Given the description of an element on the screen output the (x, y) to click on. 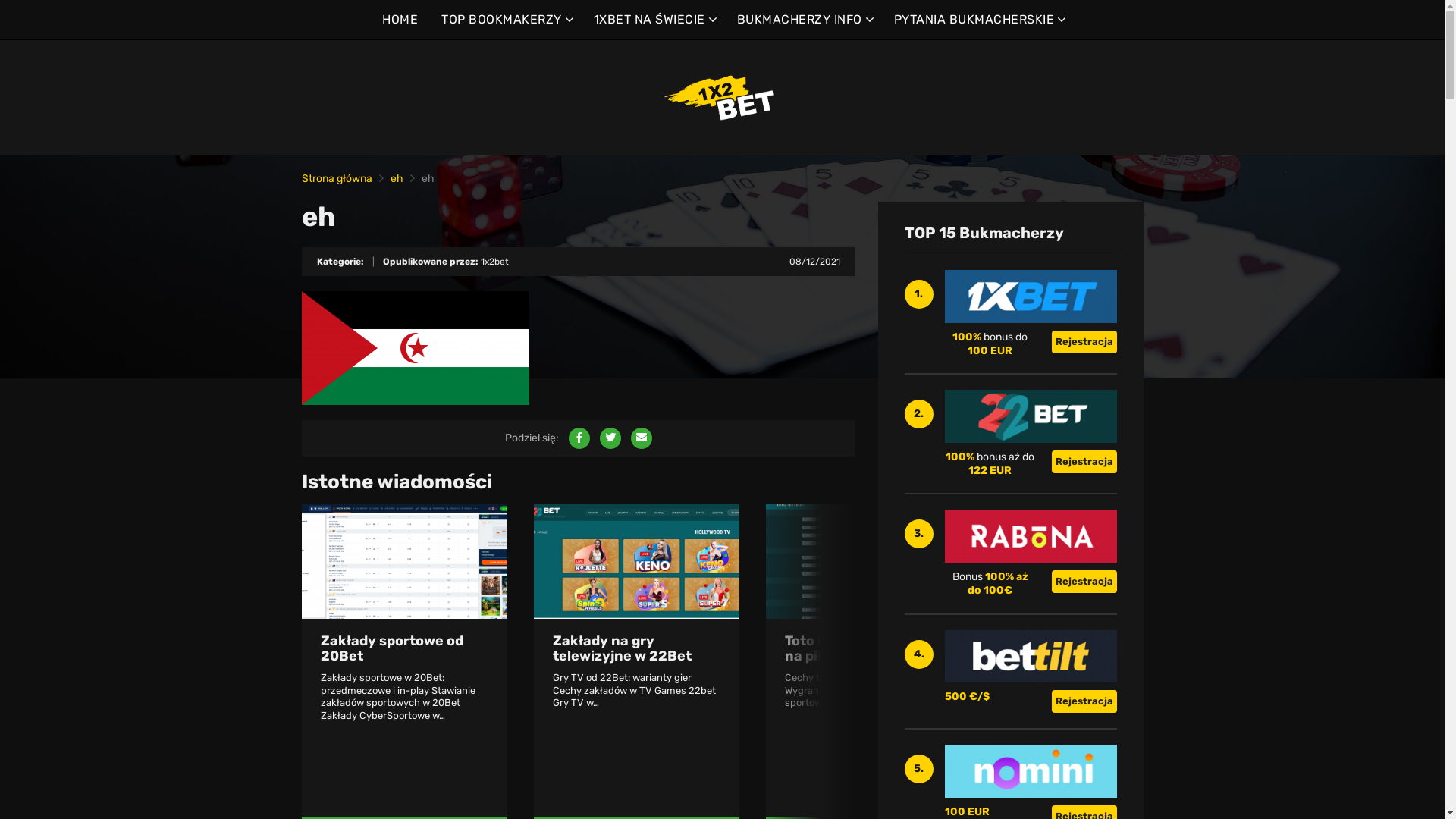
Rejestracja Element type: text (1083, 701)
PYTANIA BUKMACHERSKIE Element type: text (977, 19)
BUKMACHERZY INFO Element type: text (803, 19)
Rejestracja Element type: text (1083, 461)
Rejestracja Element type: text (1083, 341)
TOP BOOKMAKERZY Element type: text (505, 19)
Share by email Element type: hover (641, 437)
Share on Facebook Element type: hover (578, 437)
HOME Element type: text (399, 19)
eh Element type: text (395, 178)
Rejestracja Element type: text (1083, 581)
Share on Twitter Element type: hover (609, 437)
